Given the description of an element on the screen output the (x, y) to click on. 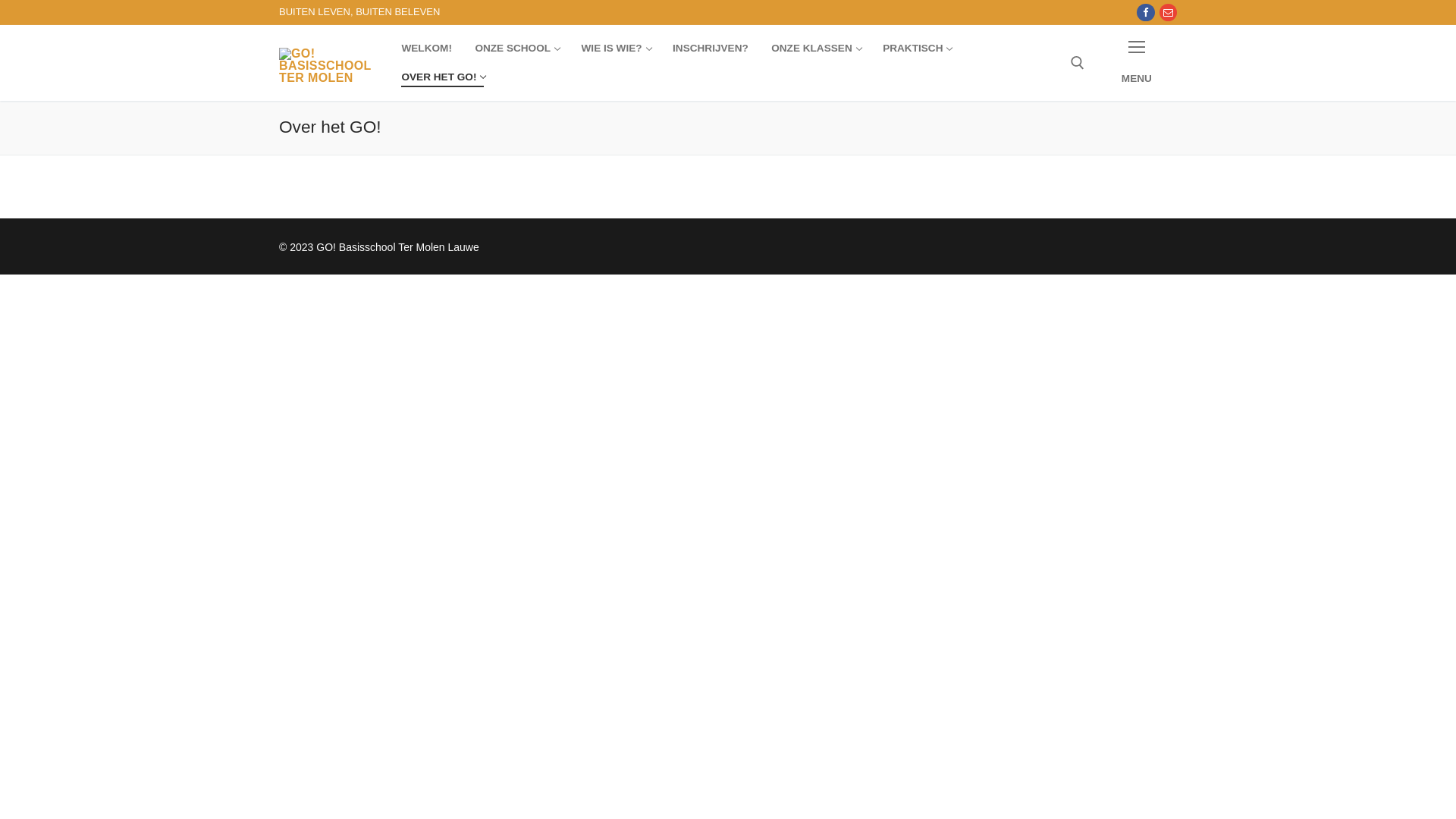
INSCHRIJVEN? Element type: text (710, 48)
ONZE SCHOOL
  Element type: text (515, 48)
PRAKTISCH
  Element type: text (916, 48)
Facebook Element type: hover (1145, 12)
WELKOM! Element type: text (426, 48)
OVER HET GO!
  Element type: text (442, 76)
e-mail Element type: hover (1168, 12)
MENU Element type: text (1136, 62)
WIE IS WIE?
  Element type: text (615, 48)
Spring naar de inhoud Element type: text (0, 0)
ONZE KLASSEN
  Element type: text (815, 48)
